Given the description of an element on the screen output the (x, y) to click on. 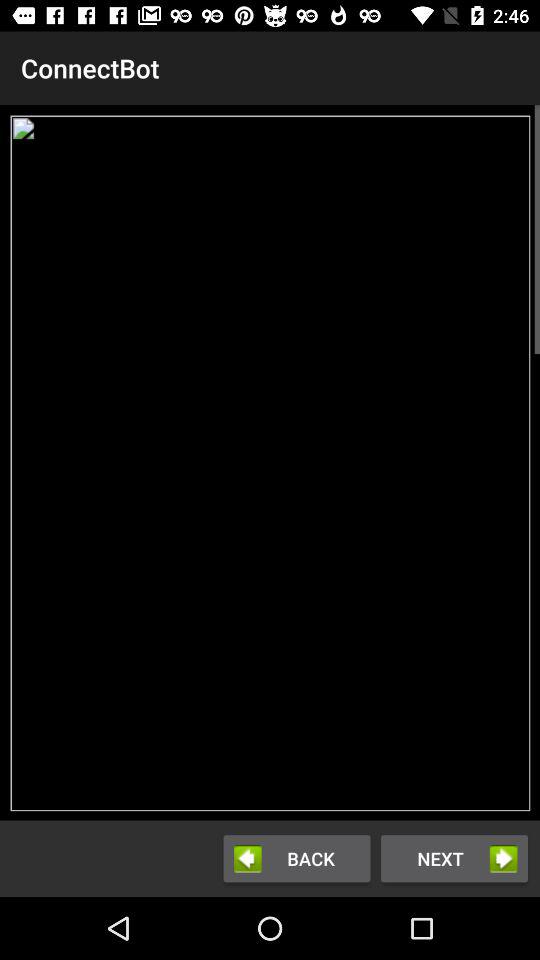
tap the item above the back icon (270, 462)
